Given the description of an element on the screen output the (x, y) to click on. 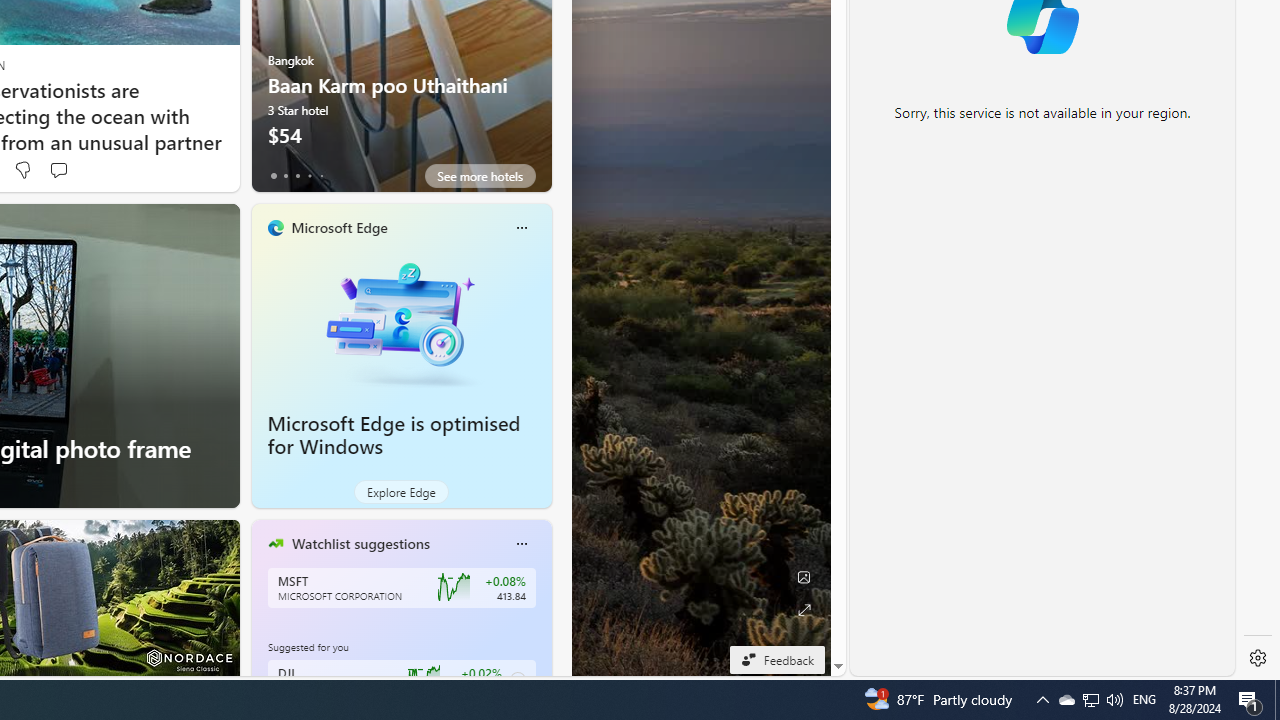
Microsoft Edge is optimised for Windows (393, 435)
Watchlist suggestions (360, 543)
Edit Background (803, 577)
tab-2 (297, 175)
Microsoft Edge is optimised for Windows (401, 321)
See more hotels (479, 175)
Class: follow-button  m (517, 679)
Microsoft Edge (338, 227)
tab-4 (320, 175)
